Given the description of an element on the screen output the (x, y) to click on. 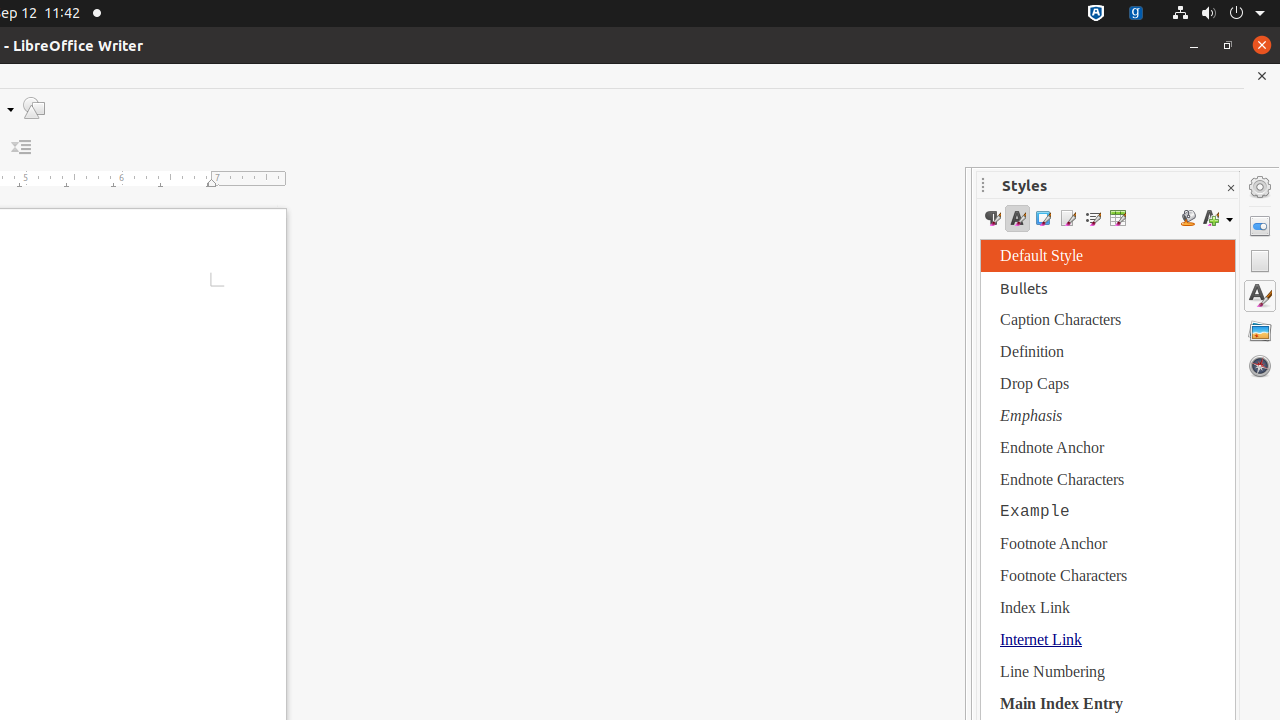
Navigator Element type: radio-button (1260, 366)
Page Element type: radio-button (1260, 261)
:1.72/StatusNotifierItem Element type: menu (1096, 13)
Close Sidebar Deck Element type: push-button (1230, 188)
